Given the description of an element on the screen output the (x, y) to click on. 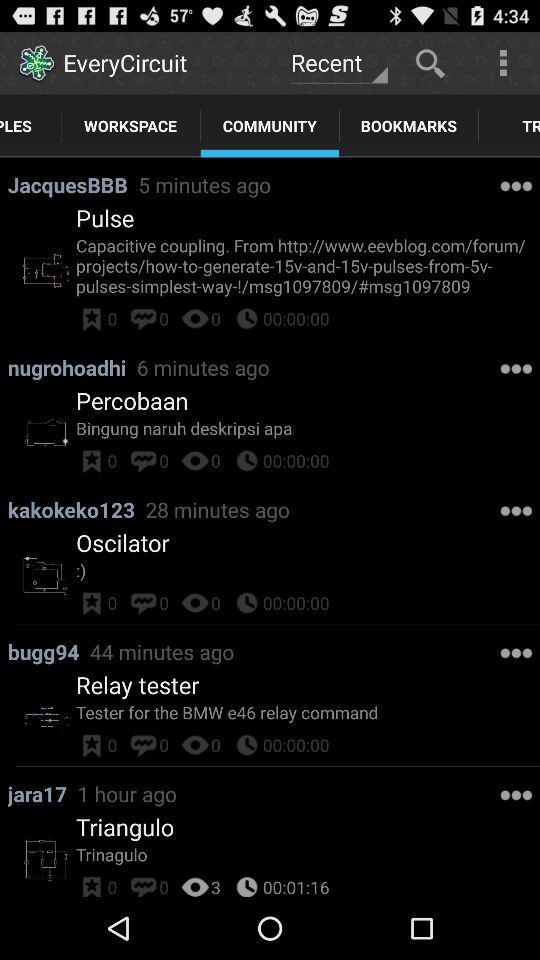
press icon to the right of jara17 item (126, 793)
